Given the description of an element on the screen output the (x, y) to click on. 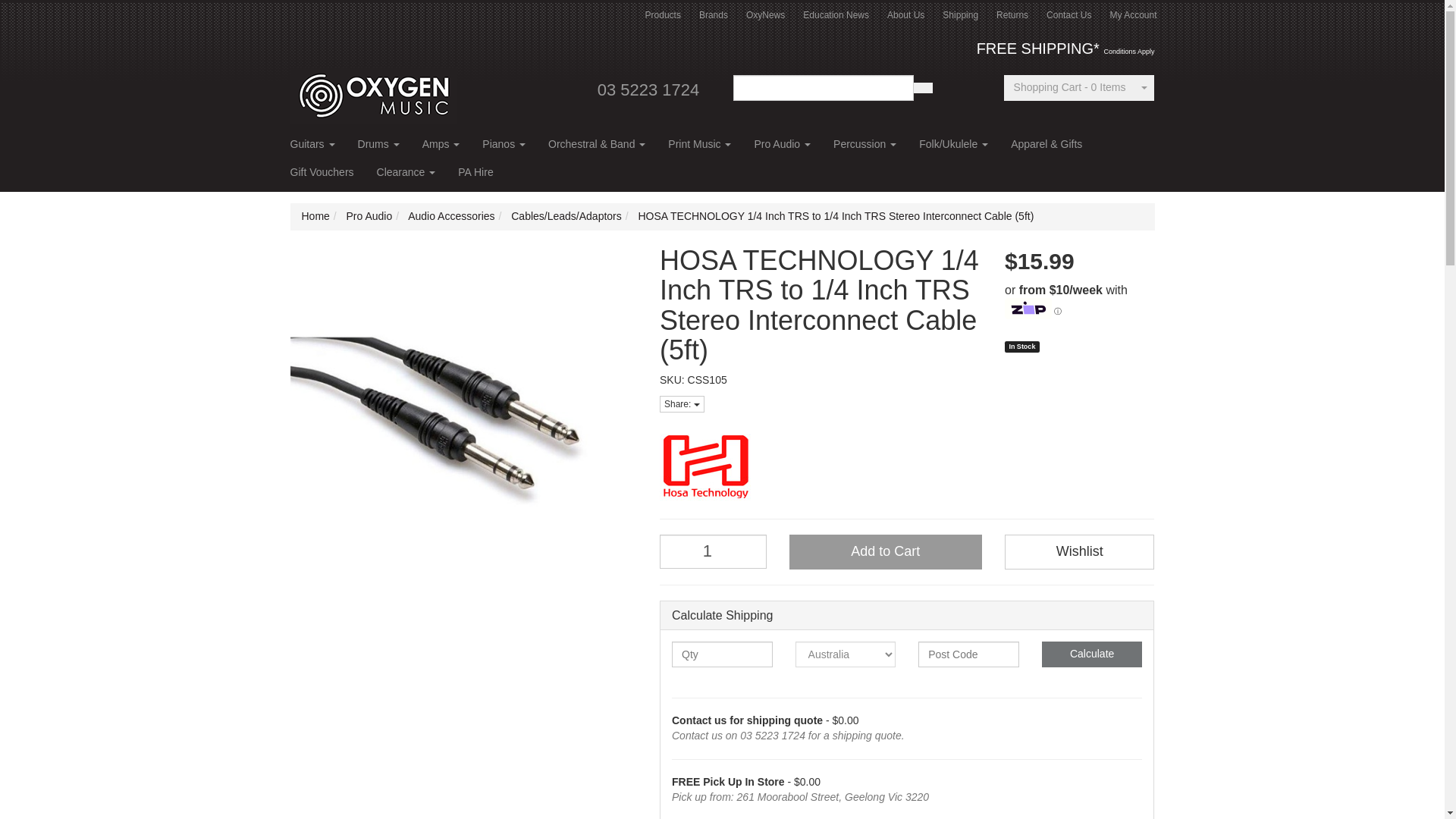
1 (713, 551)
Hosa Technology (906, 465)
Guitars (312, 148)
About Us (905, 15)
Shopping Cart - 0 Items (1069, 87)
Products (663, 15)
My Account (1133, 15)
Add to Cart (885, 551)
Oxygen Music (373, 90)
Contact Us (1068, 15)
OxyNews (764, 15)
Calculate (1092, 654)
Shipping (960, 15)
Returns (1011, 15)
Education News (835, 15)
